Given the description of an element on the screen output the (x, y) to click on. 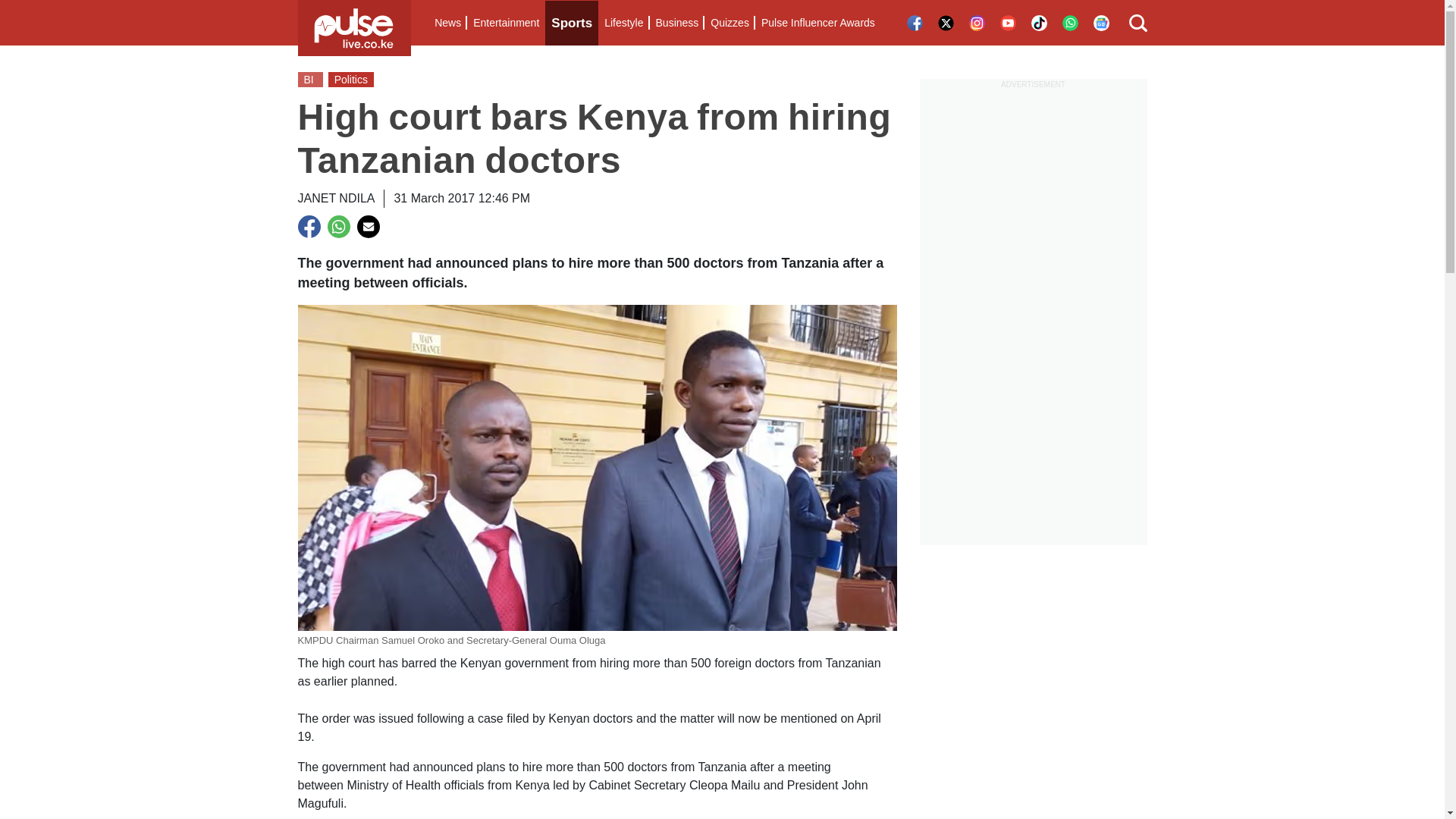
Business (676, 22)
Lifestyle (623, 22)
Sports (571, 22)
Quizzes (729, 22)
Entertainment (505, 22)
Pulse Influencer Awards (817, 22)
